Given the description of an element on the screen output the (x, y) to click on. 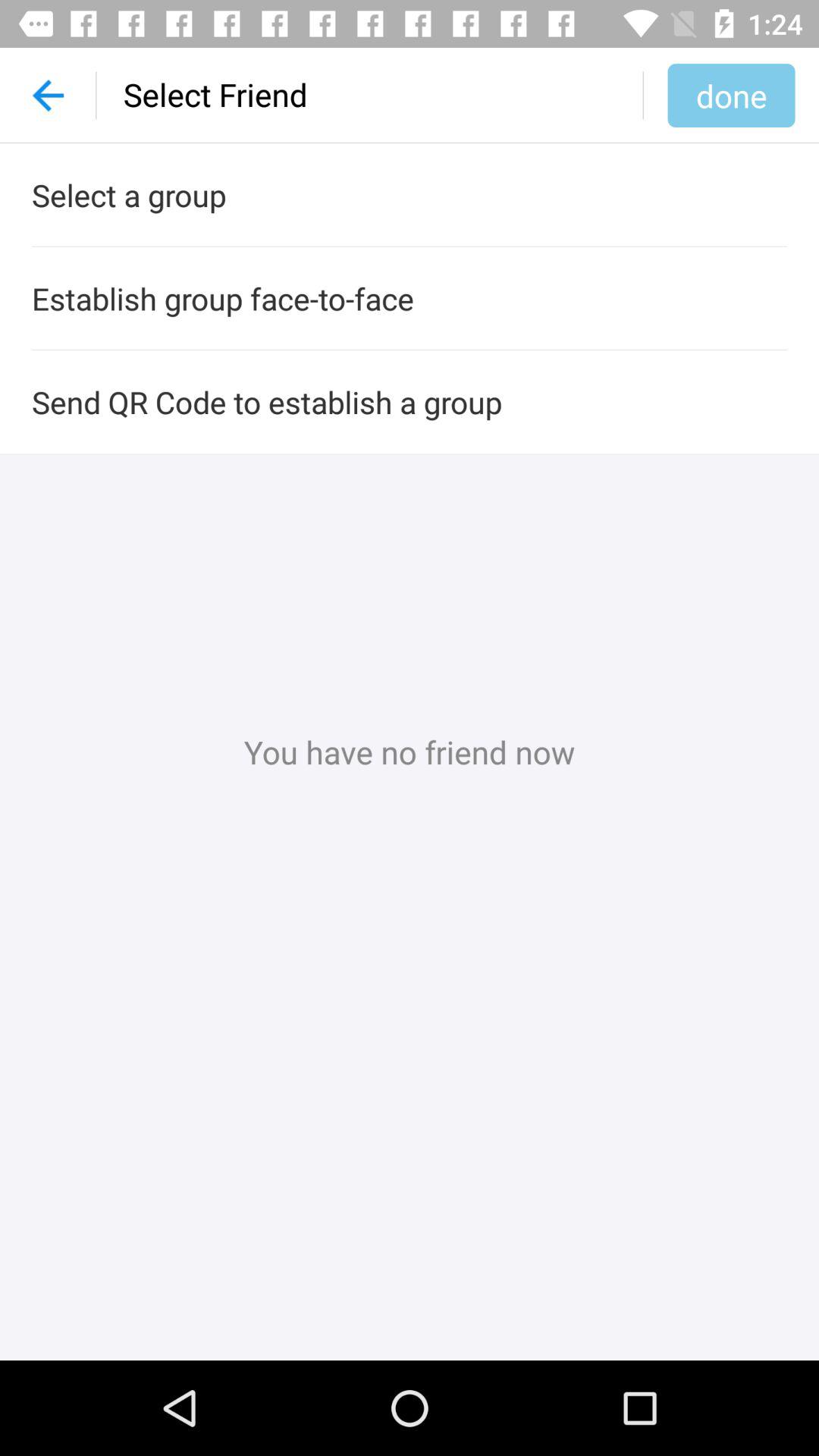
turn off the done item (731, 95)
